Given the description of an element on the screen output the (x, y) to click on. 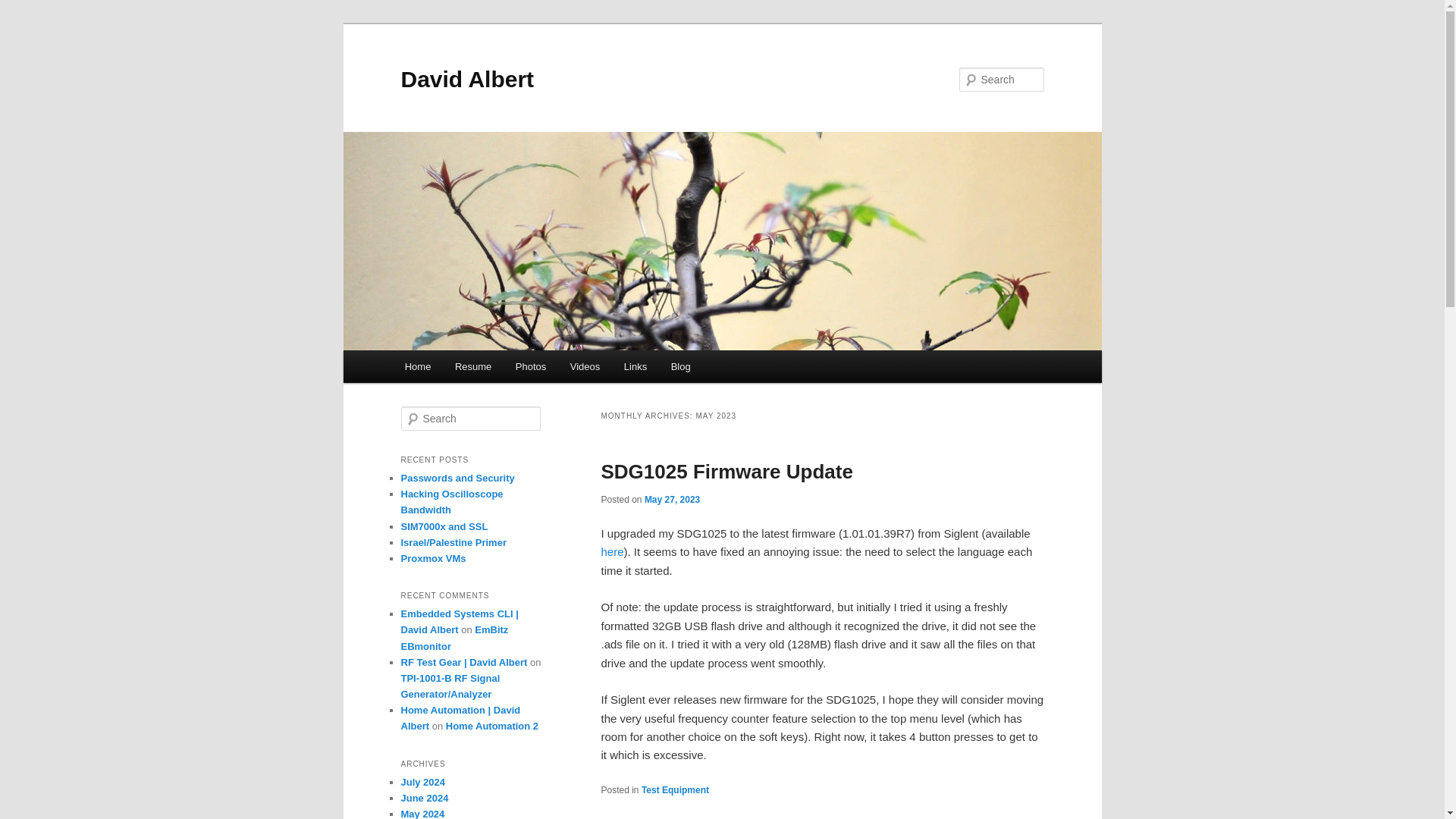
Passwords and Security (456, 478)
May 27, 2023 (672, 499)
Home Automation 2 (491, 726)
Home (417, 366)
Search (21, 11)
Links (635, 366)
Search (24, 8)
May 2024 (422, 813)
Hacking Oscilloscope Bandwidth (451, 501)
SDG1025 Firmware Update (725, 471)
Videos (584, 366)
Proxmox VMs (432, 558)
Test Equipment (675, 789)
Photos (530, 366)
June 2024 (424, 797)
